Given the description of an element on the screen output the (x, y) to click on. 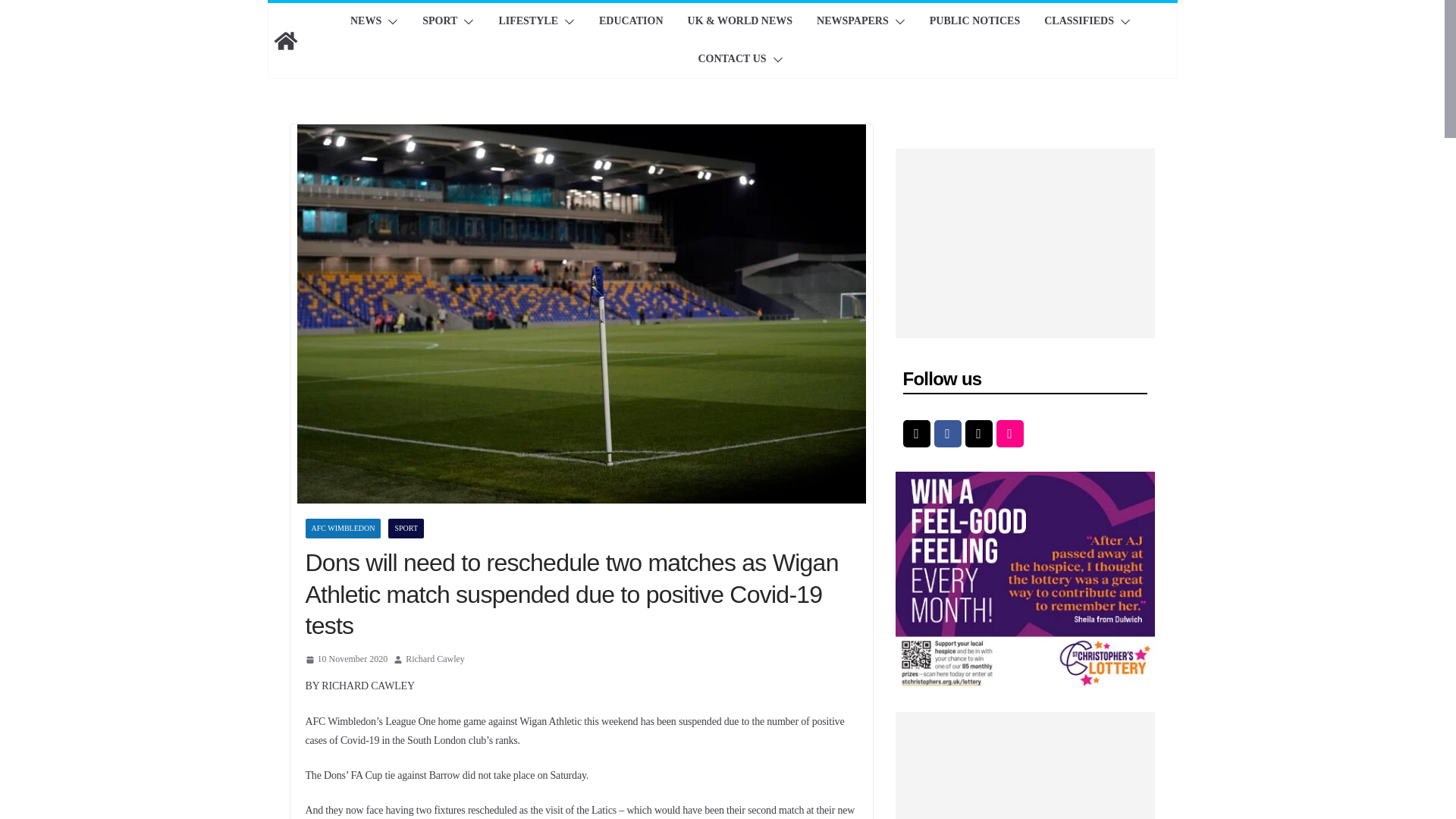
Advertisement (1021, 243)
10:05 (345, 659)
LIFESTYLE (527, 21)
Richard Cawley (435, 659)
South London News (284, 40)
SPORT (439, 21)
NEWS (365, 21)
